Given the description of an element on the screen output the (x, y) to click on. 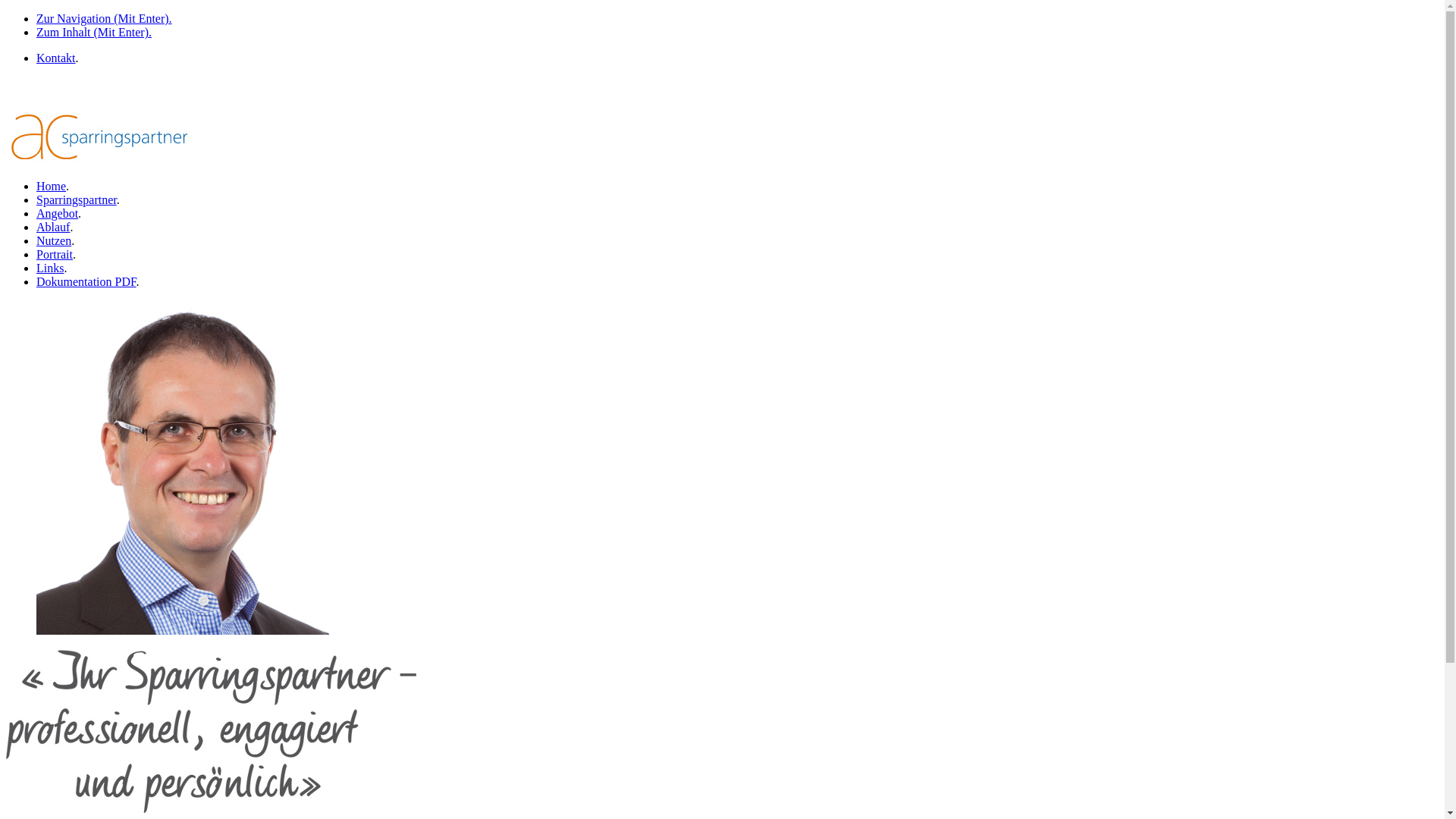
Kontakt Element type: text (55, 57)
Angebot Element type: text (57, 213)
Dokumentation PDF Element type: text (86, 281)
Portrait Element type: text (54, 253)
Sparringspartner Element type: text (76, 199)
Zum Inhalt (Mit Enter). Element type: text (93, 31)
Nutzen Element type: text (53, 240)
Ablauf Element type: text (52, 226)
Links Element type: text (49, 267)
Zur Navigation (Mit Enter). Element type: text (104, 18)
Home Element type: text (50, 185)
